Given the description of an element on the screen output the (x, y) to click on. 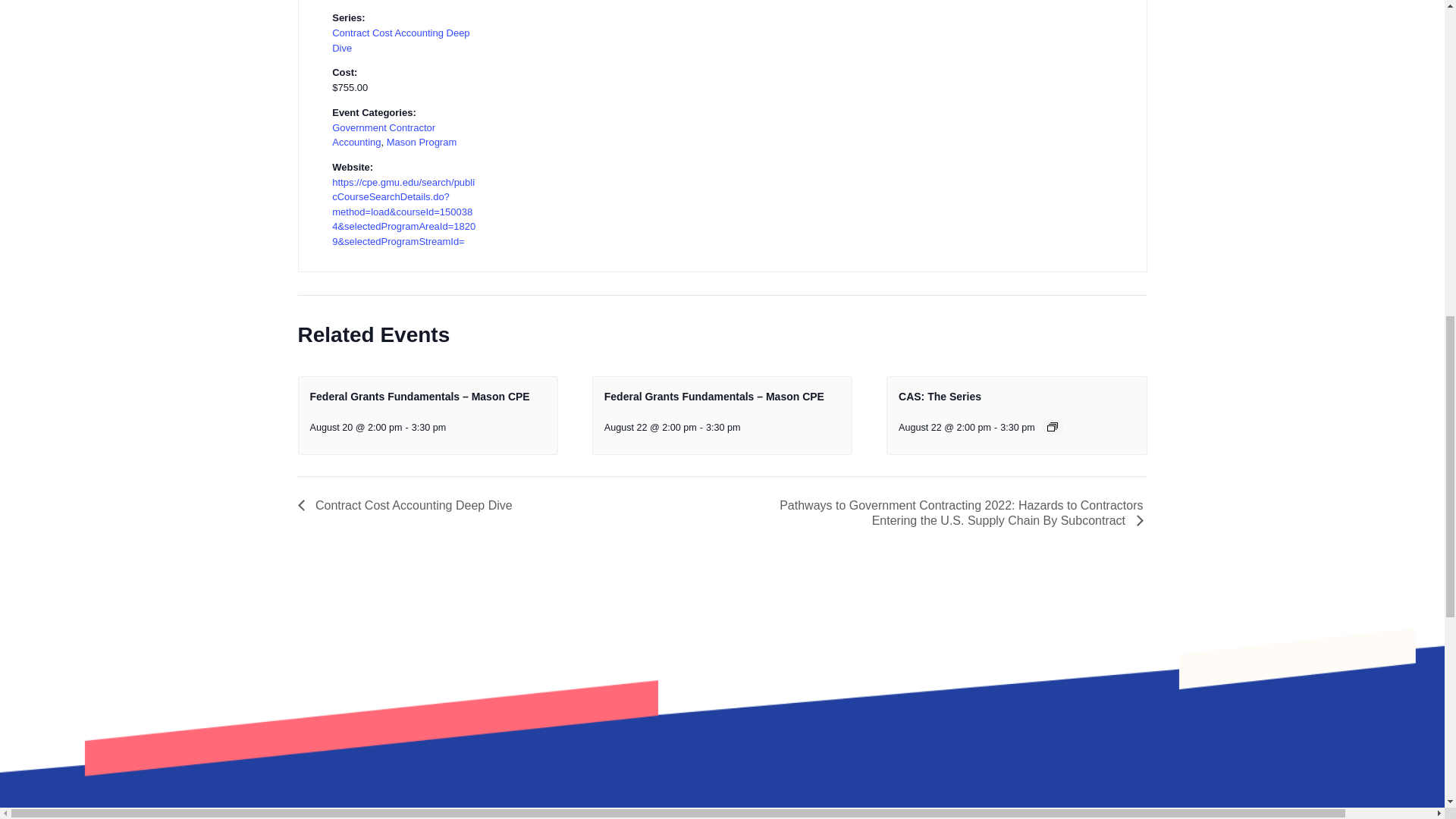
Event Series (1052, 426)
Contract Cost Accounting Deep Dive (399, 40)
2022-05-17 (403, 0)
